Given the description of an element on the screen output the (x, y) to click on. 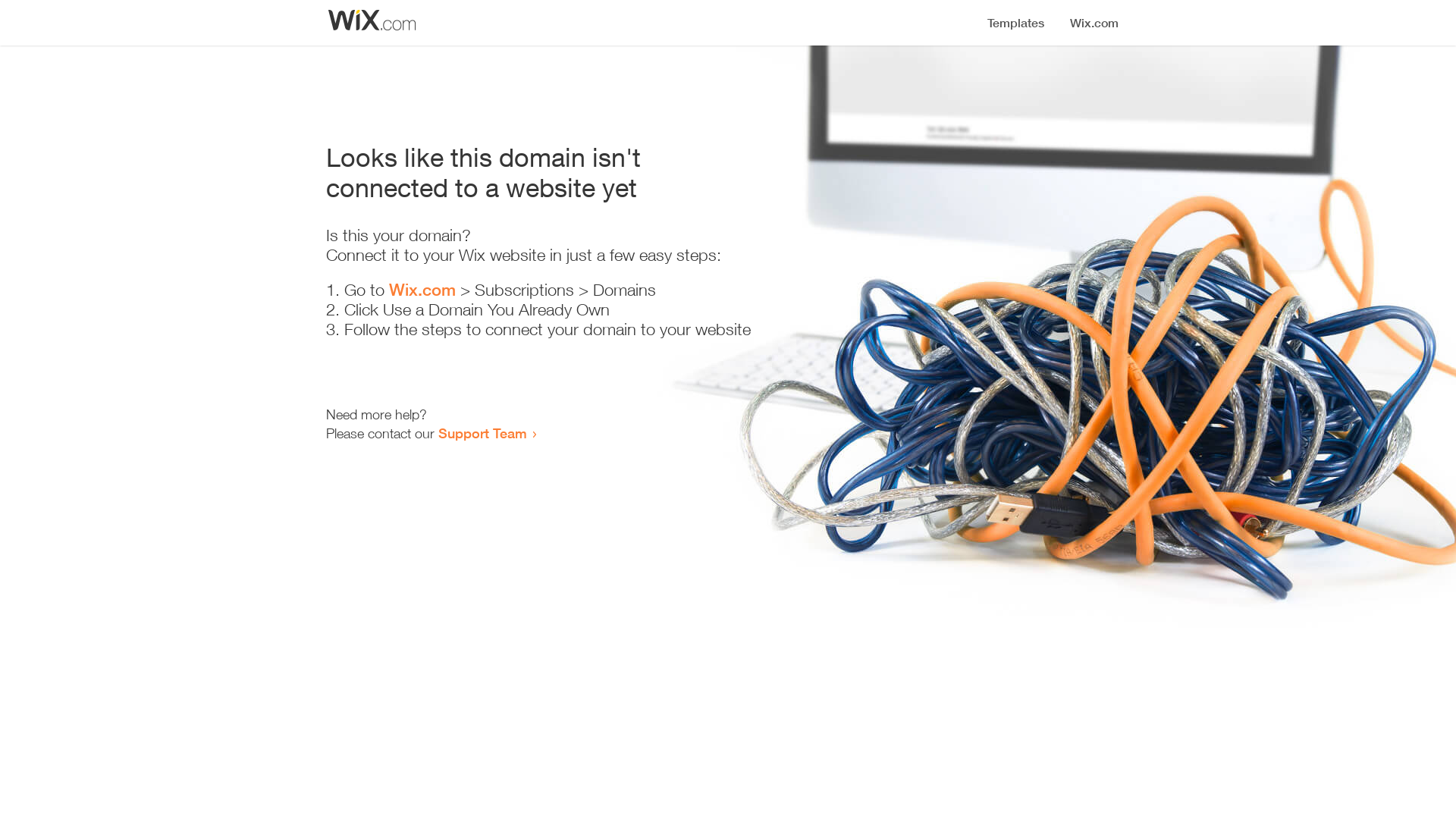
Wix.com Element type: text (422, 289)
Support Team Element type: text (482, 432)
